Given the description of an element on the screen output the (x, y) to click on. 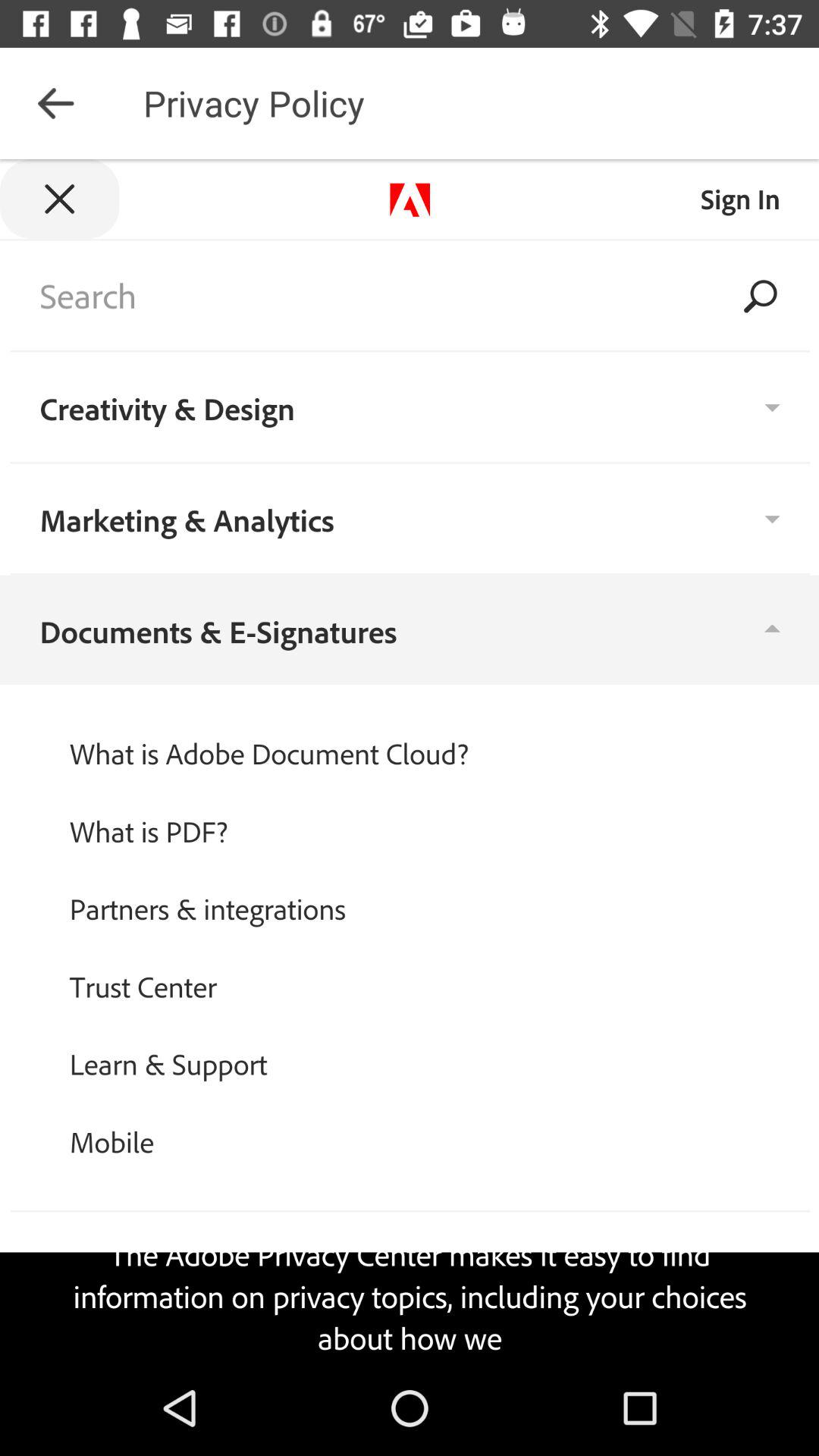
accordion of various information (409, 759)
